Given the description of an element on the screen output the (x, y) to click on. 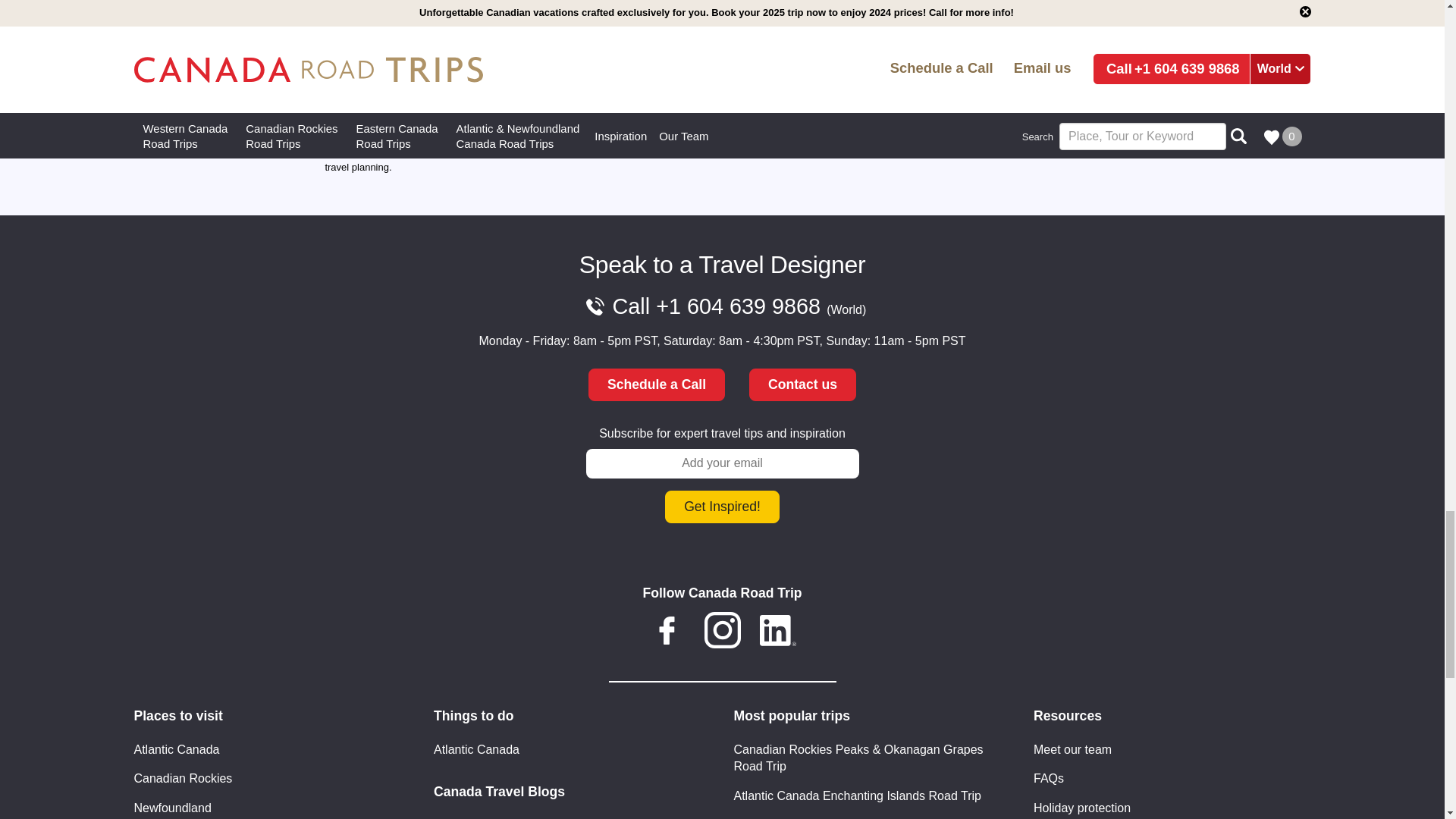
Get Inspired! (721, 506)
Atlantic Canada (176, 749)
Contact us (802, 384)
Newfoundland (172, 806)
Follow us on Facebook (665, 631)
Canadian Rockies (182, 778)
Follow us on LinkedIn (778, 631)
Schedule a Call (656, 384)
Get Inspired! (721, 506)
